Given the description of an element on the screen output the (x, y) to click on. 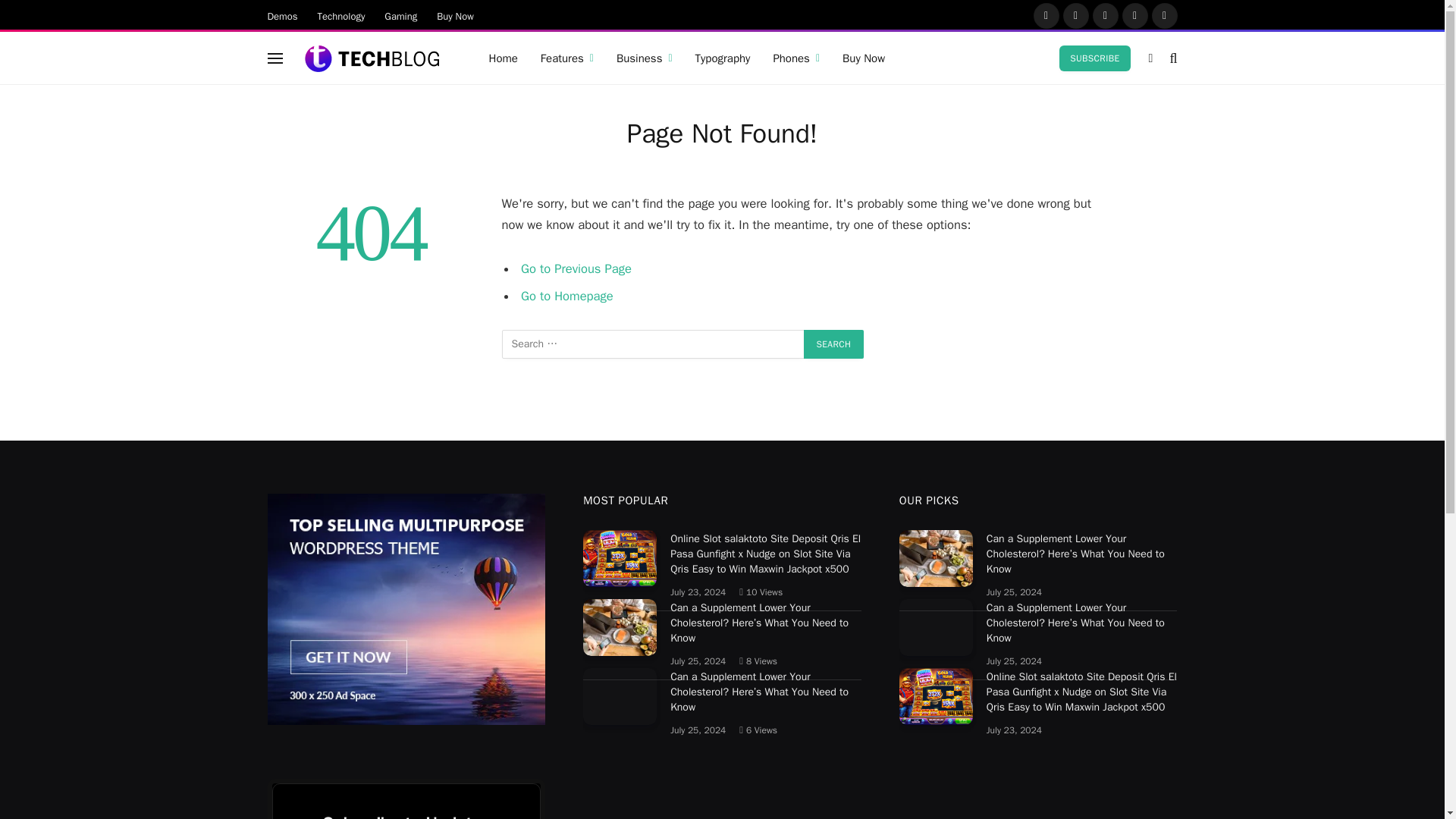
Search (833, 344)
Technology (341, 15)
Demos (282, 15)
Business (644, 57)
Kang Blogger (372, 57)
Facebook (1045, 15)
Buy Now (454, 15)
Features (567, 57)
Gaming (400, 15)
Pinterest (1135, 15)
Vimeo (1163, 15)
Instagram (1105, 15)
Switch to Dark Design - easier on eyes. (1150, 57)
Typography (722, 57)
